Given the description of an element on the screen output the (x, y) to click on. 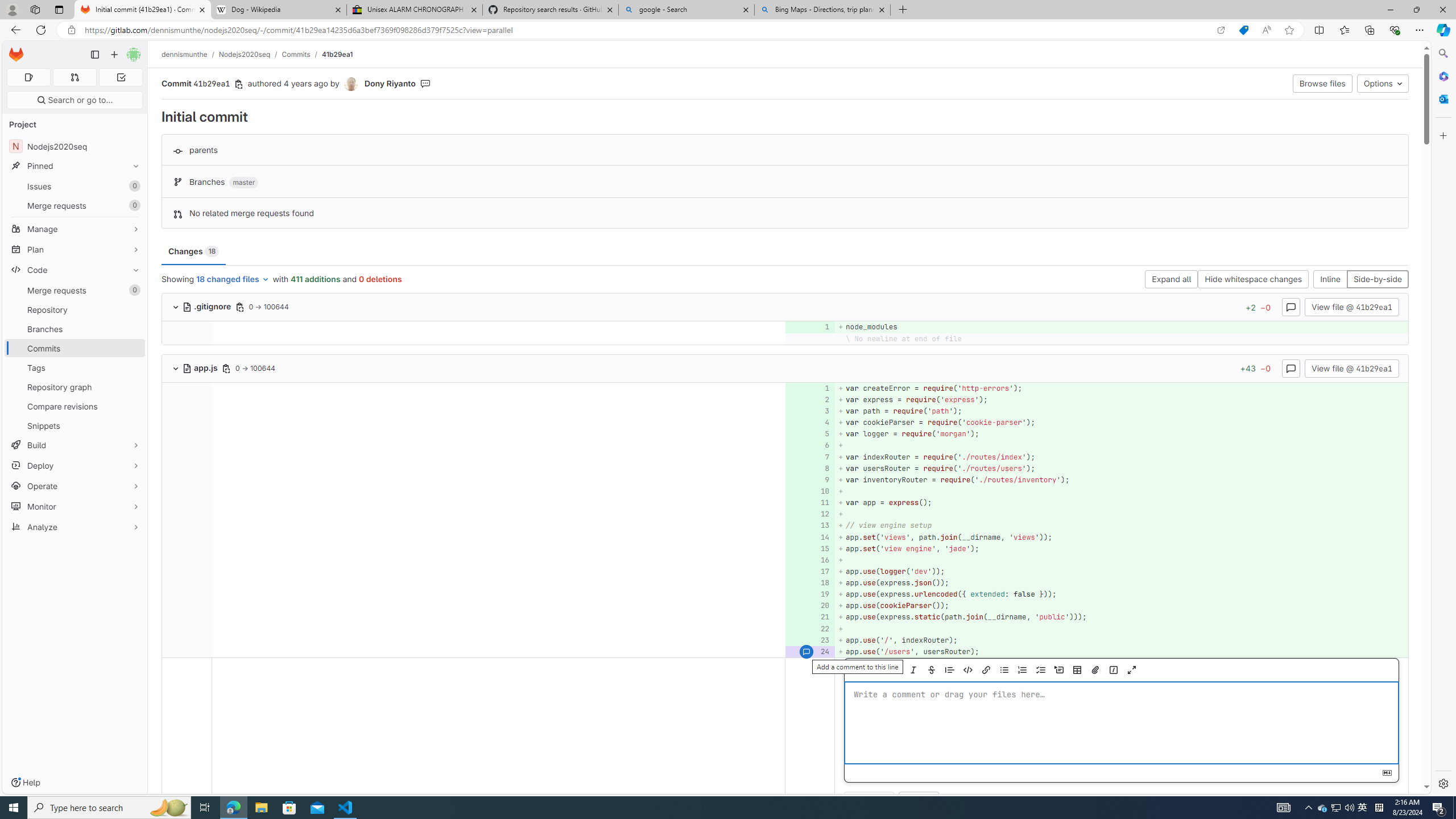
Add a comment to this line 10 (809, 490)
20 (808, 605)
Class: old_line diff-line-num empty-cell (186, 651)
7 (808, 456)
Build (74, 444)
+ var createError = require('http-errors');  (1120, 387)
Class: s16 gl-icon gl-button-icon  (1387, 773)
dennismunthe/ (189, 53)
16 (808, 559)
Add a comment to this line (806, 651)
Pin Tags (132, 367)
Merge requests 0 (74, 76)
+ app.use('/users', usersRouter);  (1120, 651)
